Given the description of an element on the screen output the (x, y) to click on. 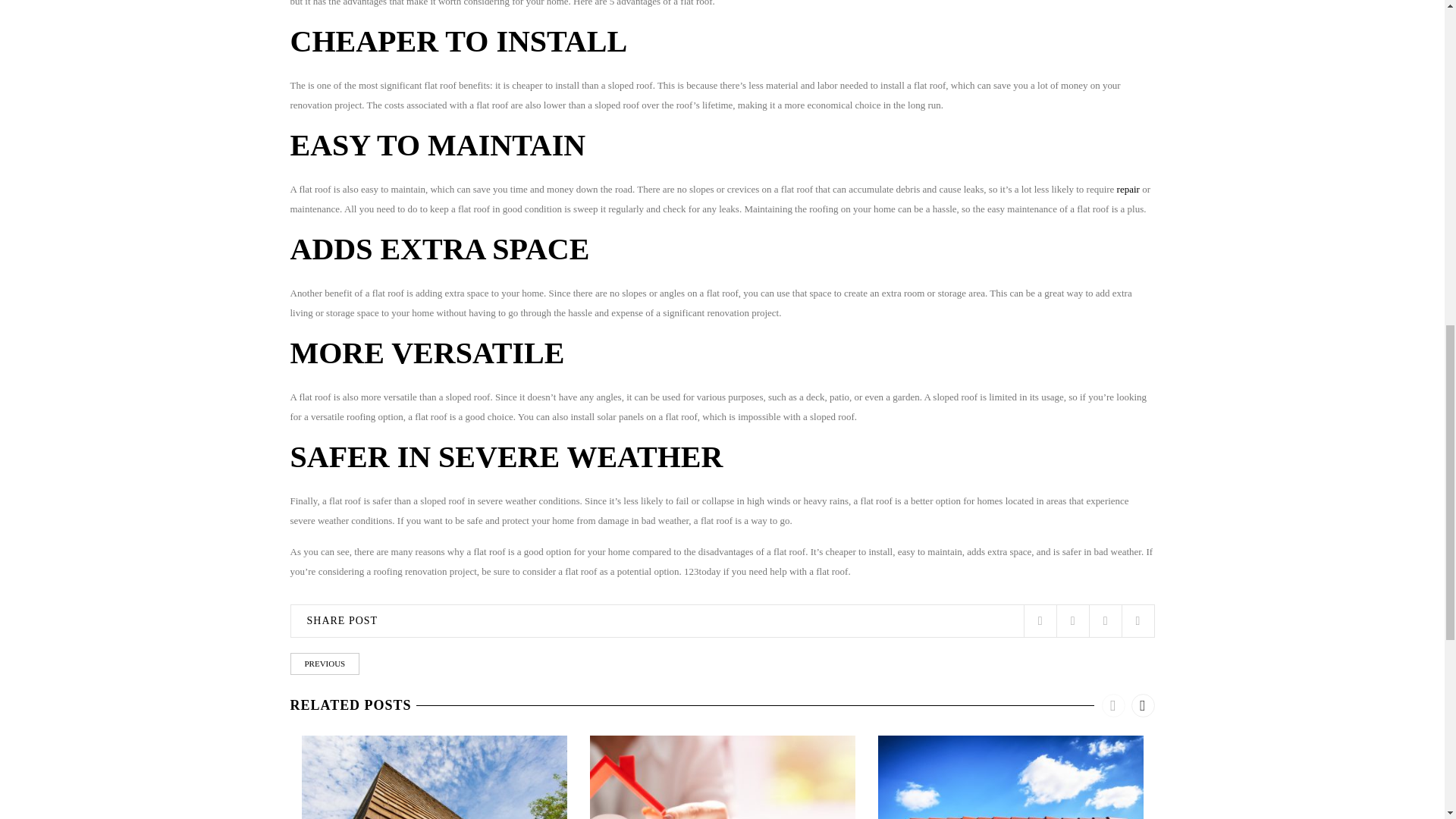
Mail to friend (1137, 621)
Twitter (1040, 621)
Pinterest (1105, 621)
Facebook (1073, 621)
